Given the description of an element on the screen output the (x, y) to click on. 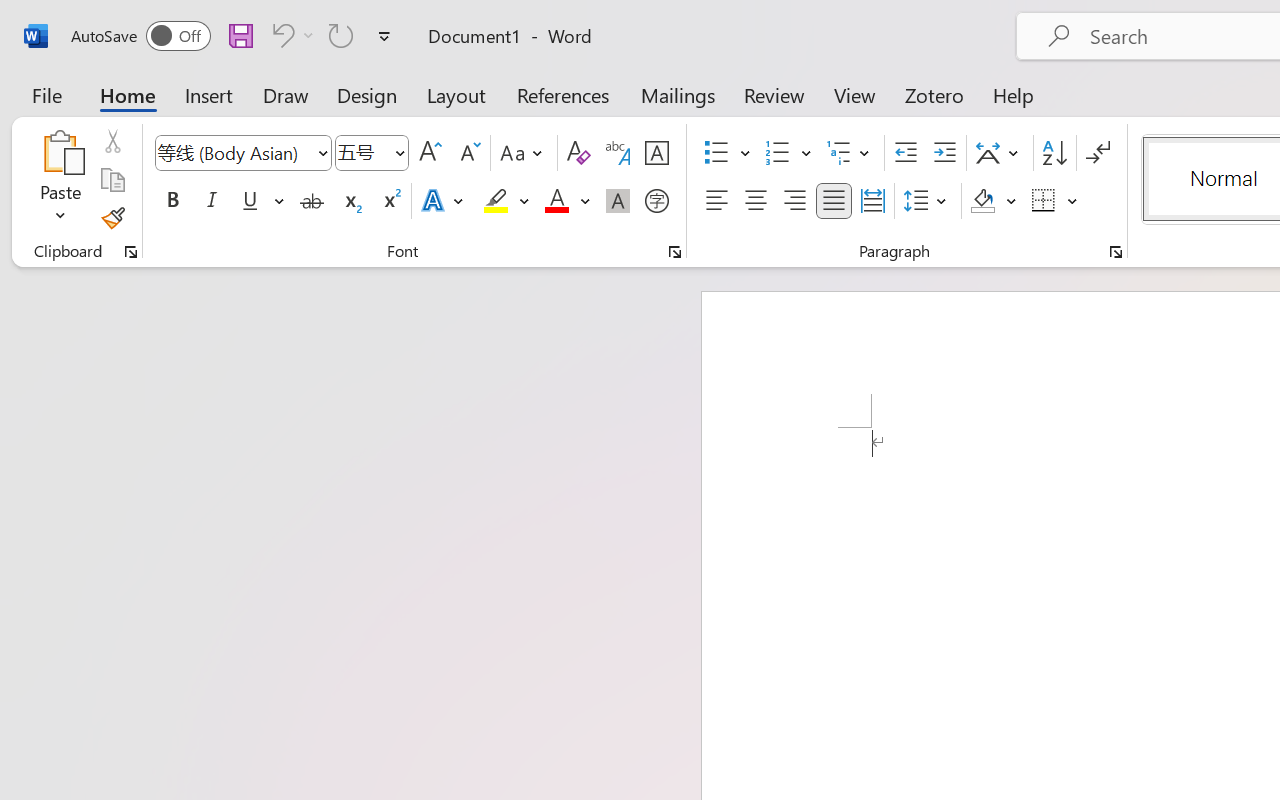
Can't Undo (290, 35)
Can't Undo (280, 35)
